Given the description of an element on the screen output the (x, y) to click on. 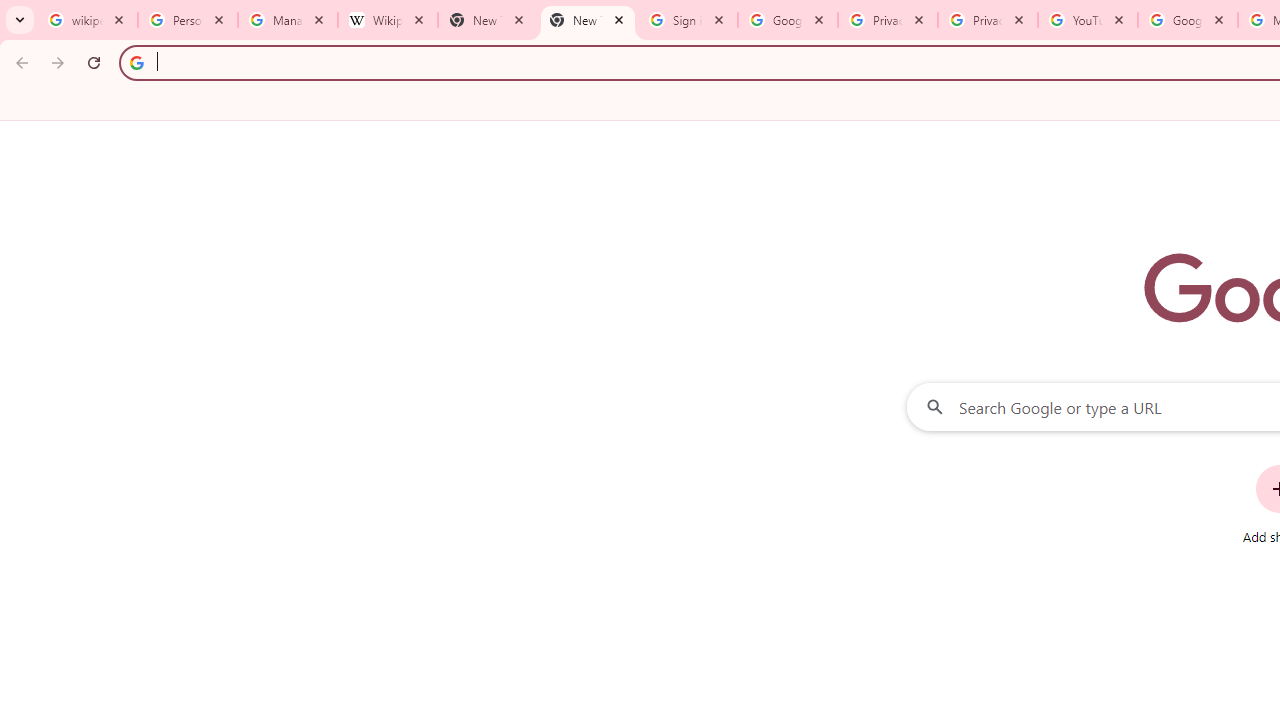
Manage your Location History - Google Search Help (287, 20)
Sign in - Google Accounts (687, 20)
